Given the description of an element on the screen output the (x, y) to click on. 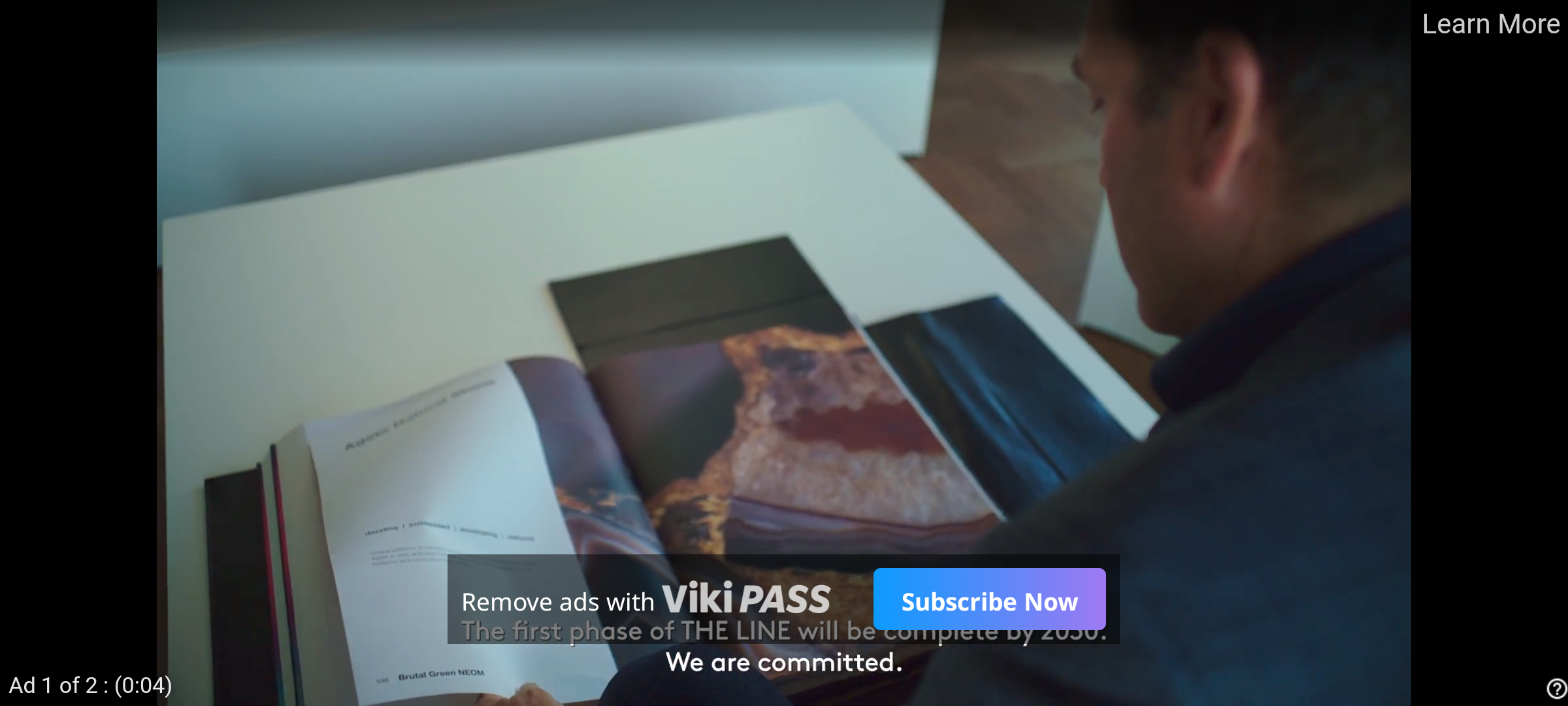
Learn More (1490, 24)
Subscribe Now (989, 599)
Ad 1 of 2 : (0:04) (90, 684)
help_outline_white_24dp_with_3px_trbl_padding (1553, 688)
